Given the description of an element on the screen output the (x, y) to click on. 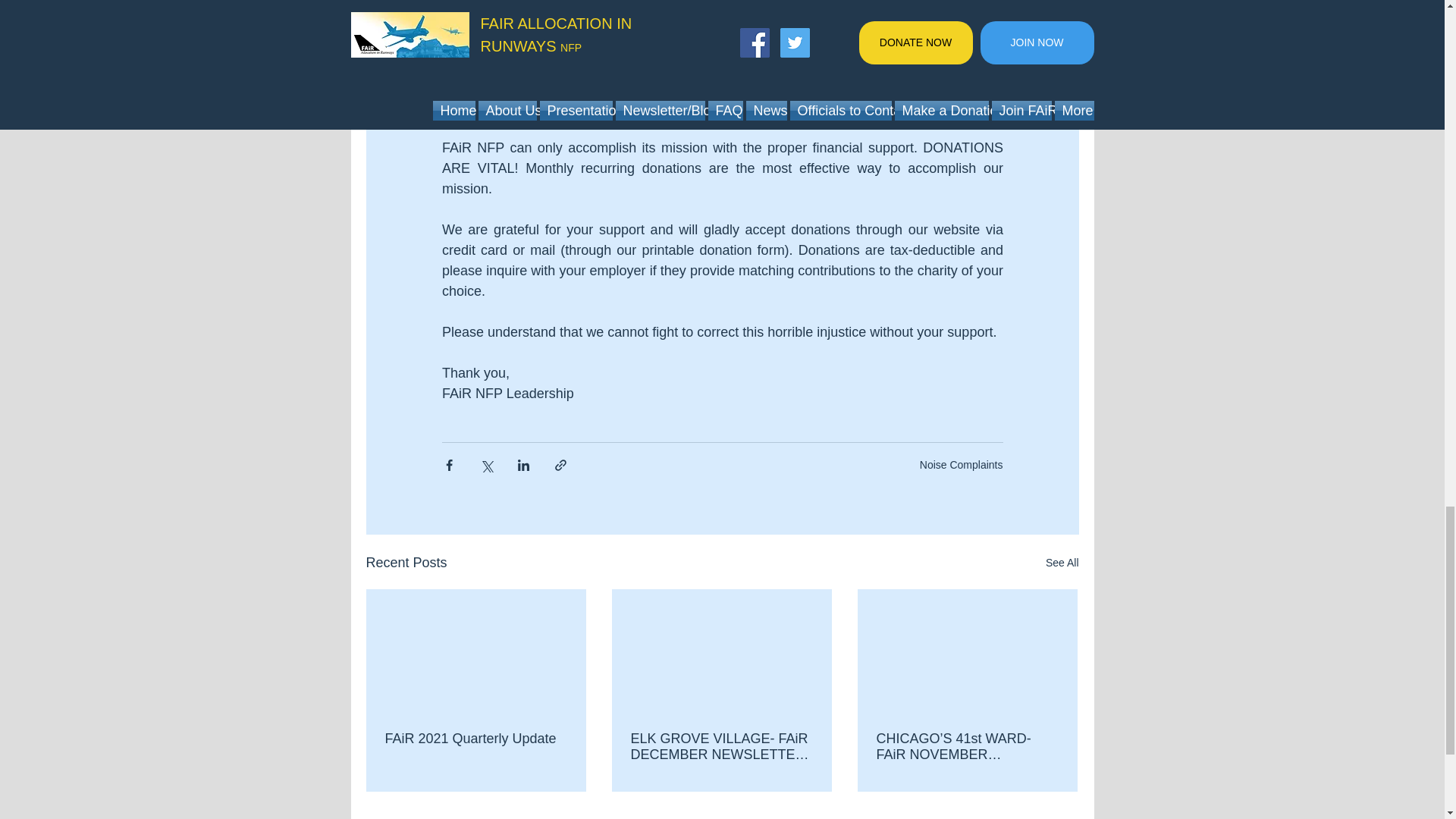
Noise Complaints (961, 464)
See All (1061, 563)
FAiR 2021 Quarterly Update (476, 738)
